Given the description of an element on the screen output the (x, y) to click on. 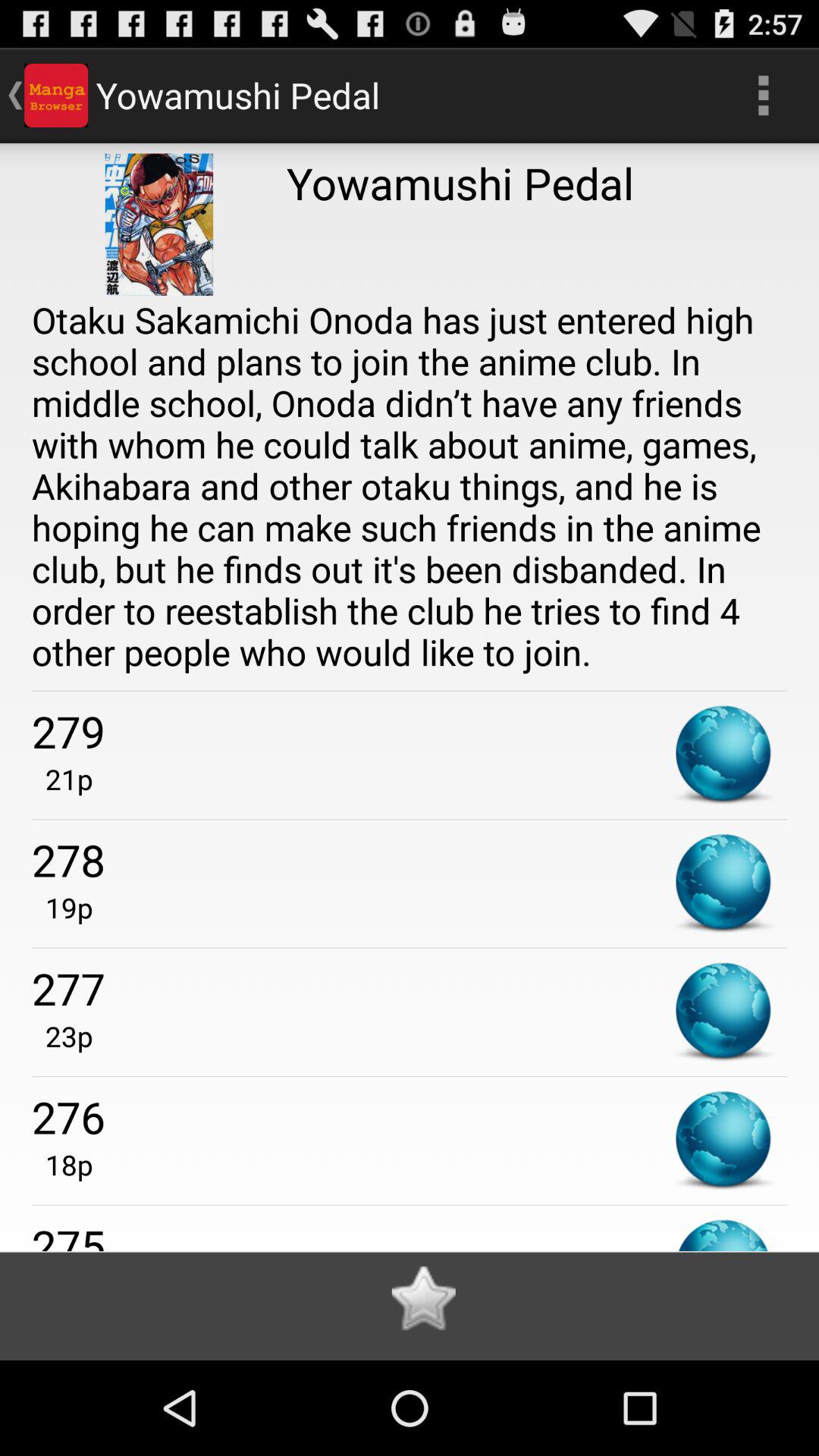
choose the icon above   18p icon (409, 1116)
